Given the description of an element on the screen output the (x, y) to click on. 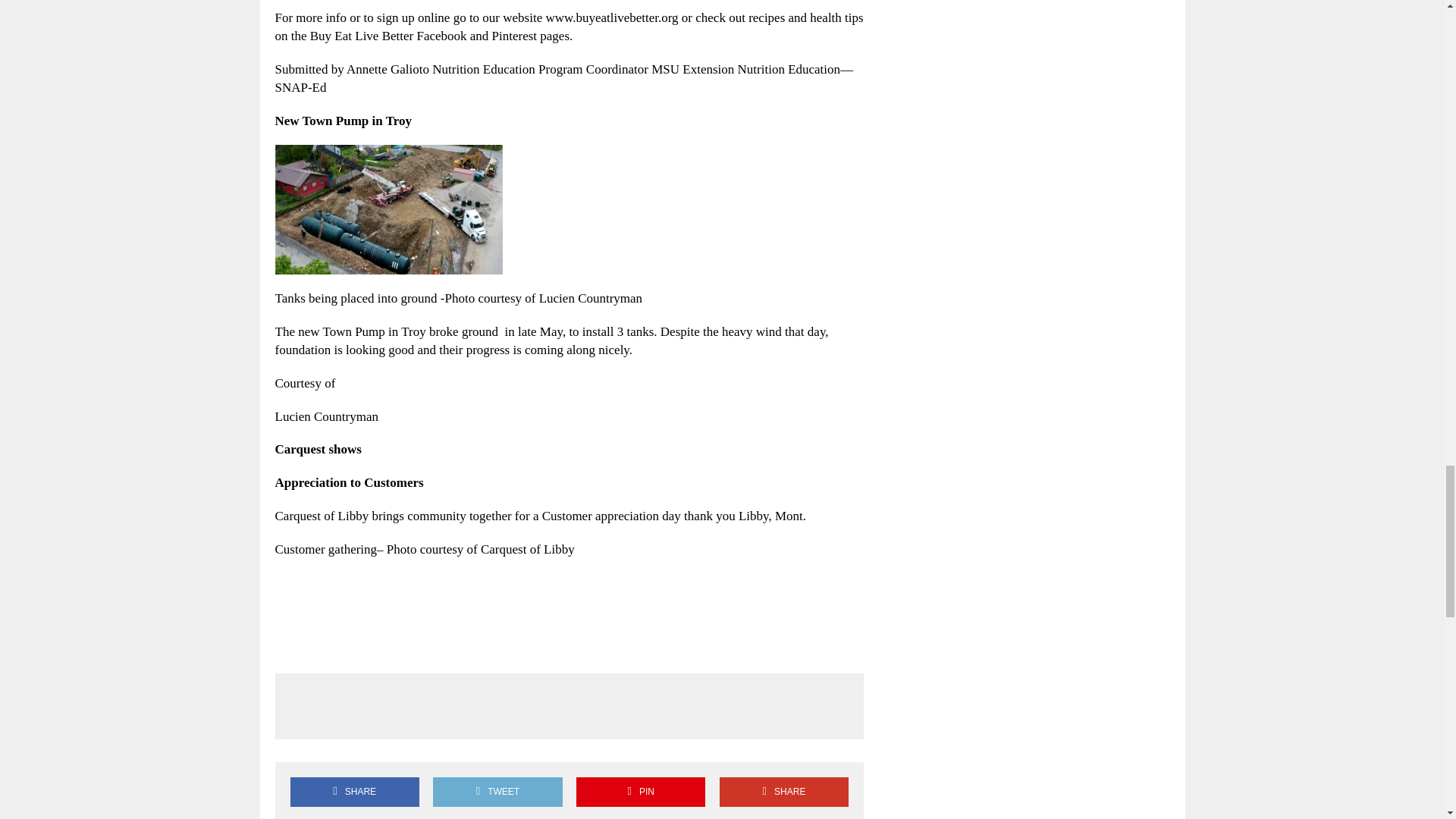
Pin This Post (640, 791)
TWEET (497, 791)
PIN (640, 791)
Share on Facebook (354, 791)
Tweet This Post (497, 791)
SHARE (783, 791)
SHARE (354, 791)
